Given the description of an element on the screen output the (x, y) to click on. 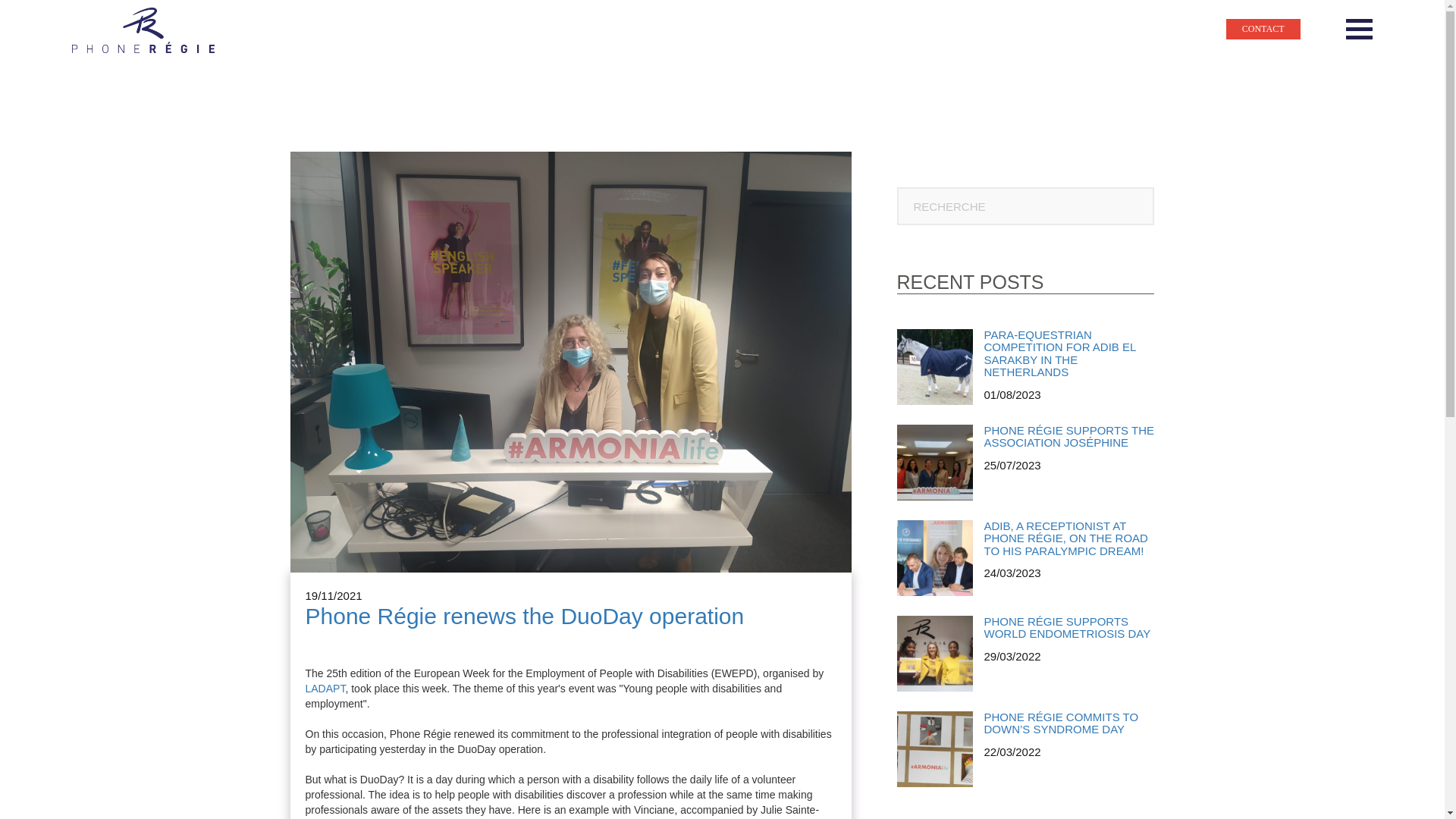
LADAPT (324, 688)
CONTACT (1262, 28)
